Given the description of an element on the screen output the (x, y) to click on. 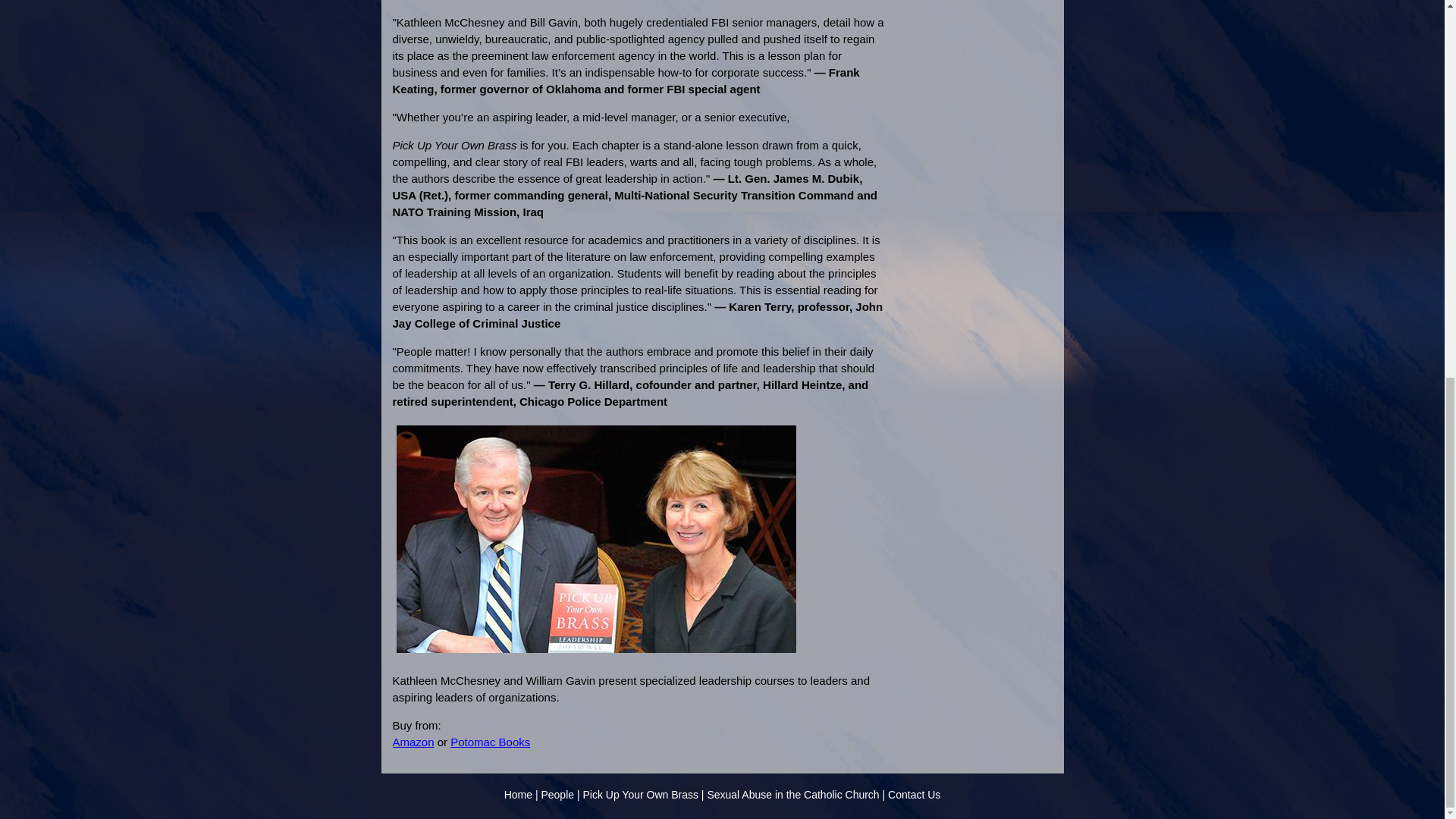
Contact Us (914, 794)
People (556, 794)
Sexual Abuse in the Catholic Church (792, 794)
Potomac Books (489, 741)
Pick Up Your Own Brass (640, 794)
Home (517, 794)
Amazon (413, 741)
